Given the description of an element on the screen output the (x, y) to click on. 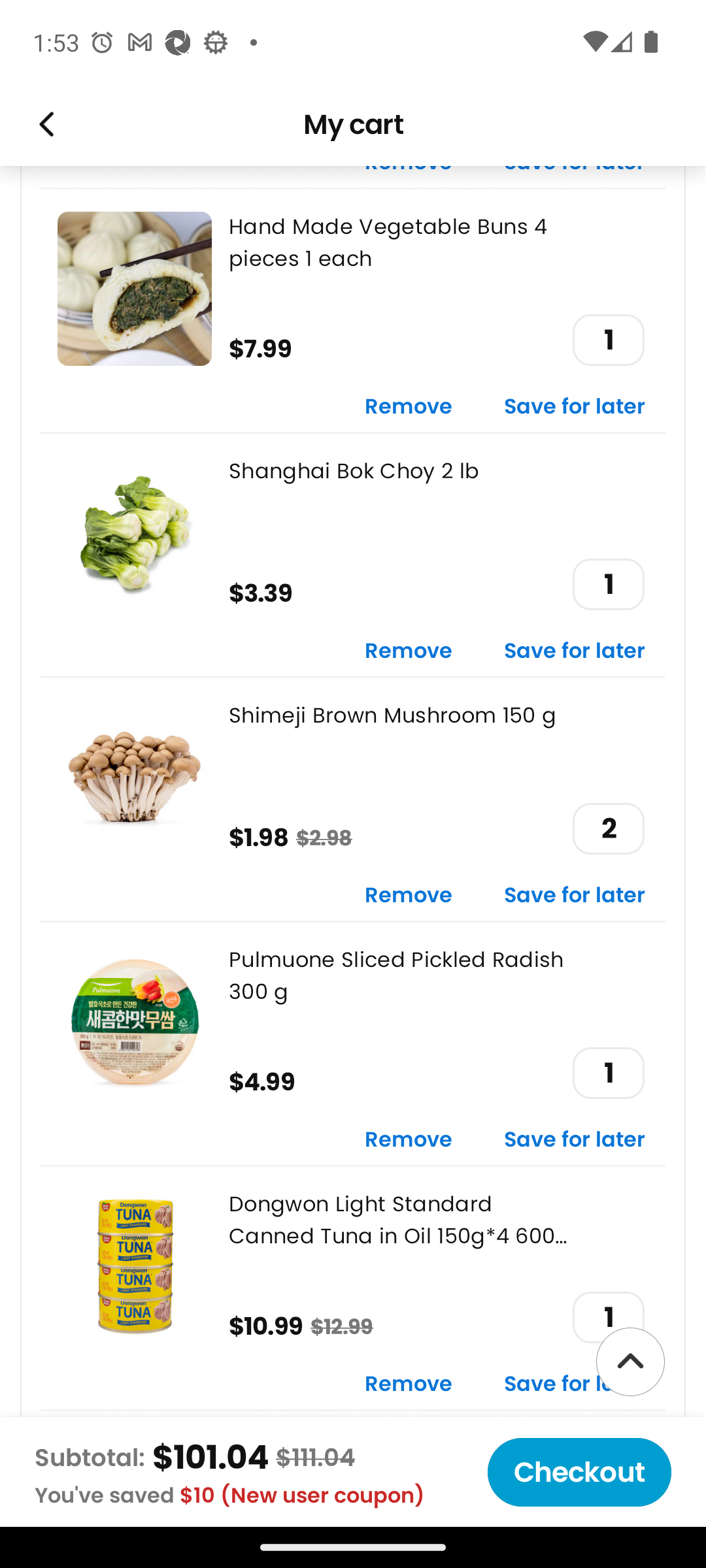
1 (608, 339)
Remove (408, 406)
Save for later (574, 406)
1 (608, 583)
Remove (408, 651)
Save for later (574, 651)
2 (608, 828)
Remove (408, 895)
Save for later (574, 895)
1 (608, 1073)
Remove (408, 1140)
Save for later (574, 1140)
1 (608, 1317)
Remove (408, 1385)
Save for later (574, 1385)
Checkout (579, 1471)
